Given the description of an element on the screen output the (x, y) to click on. 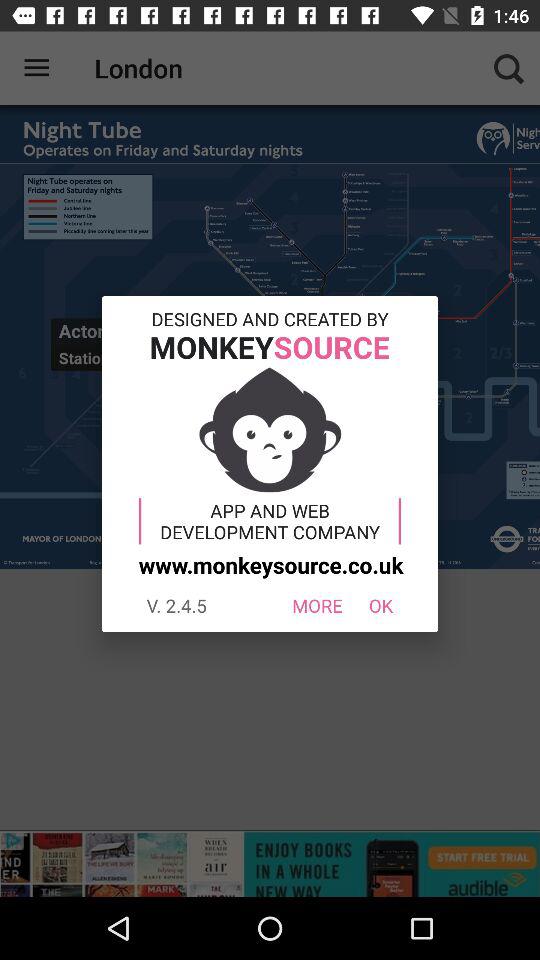
tap the item to the left of ok icon (316, 605)
